Given the description of an element on the screen output the (x, y) to click on. 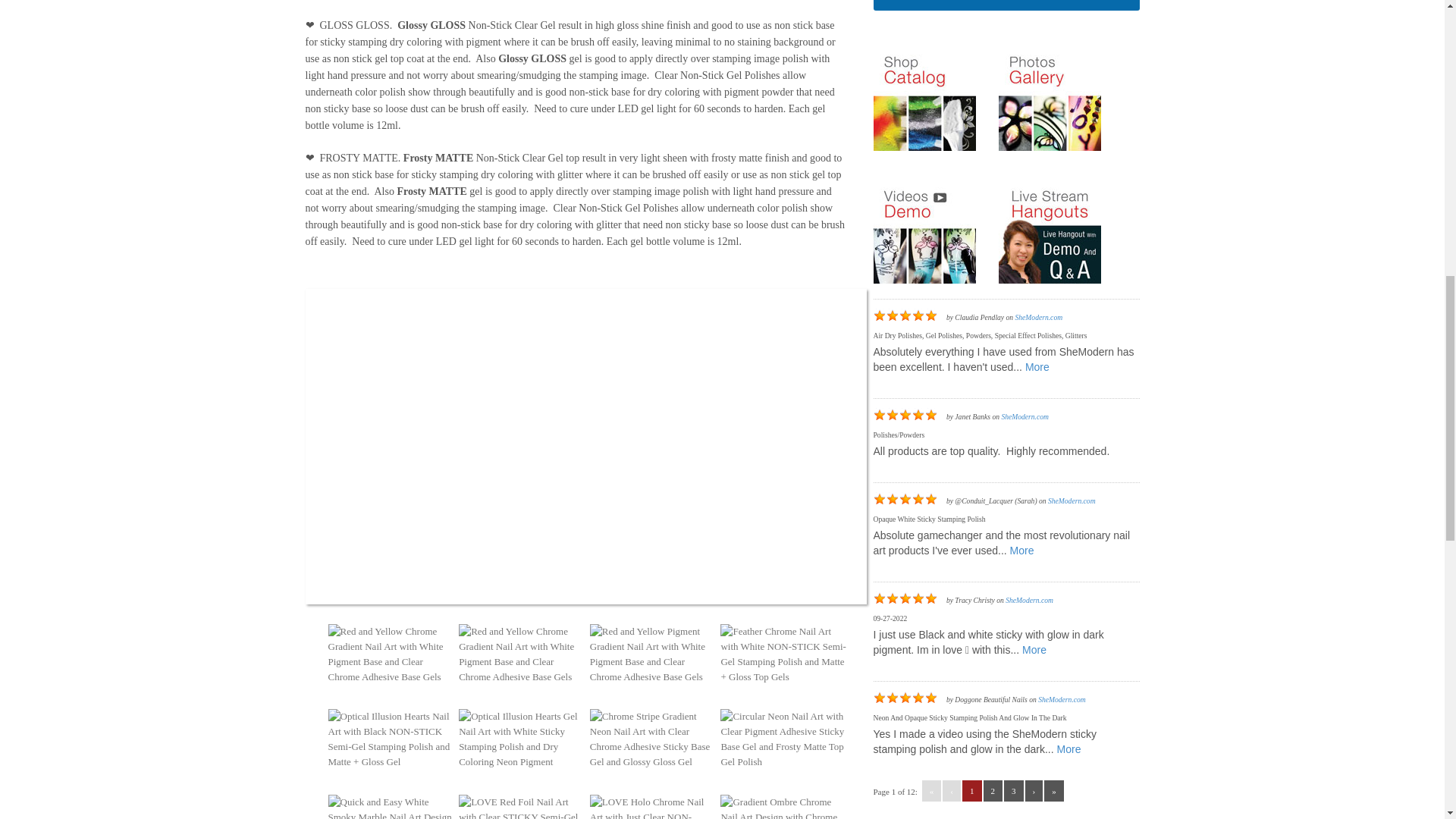
Description (337, 3)
